Given the description of an element on the screen output the (x, y) to click on. 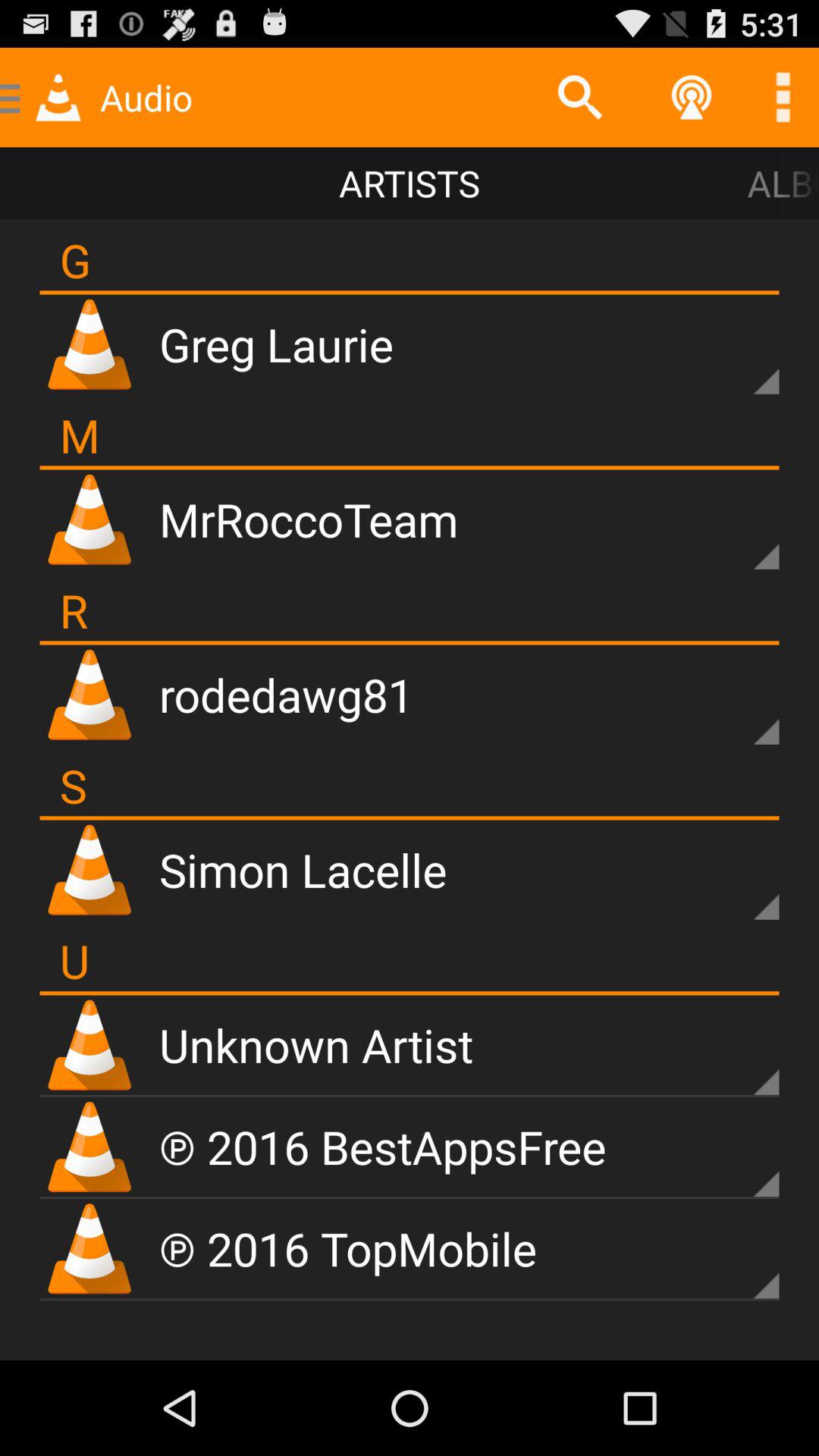
drop down info (740, 530)
